Given the description of an element on the screen output the (x, y) to click on. 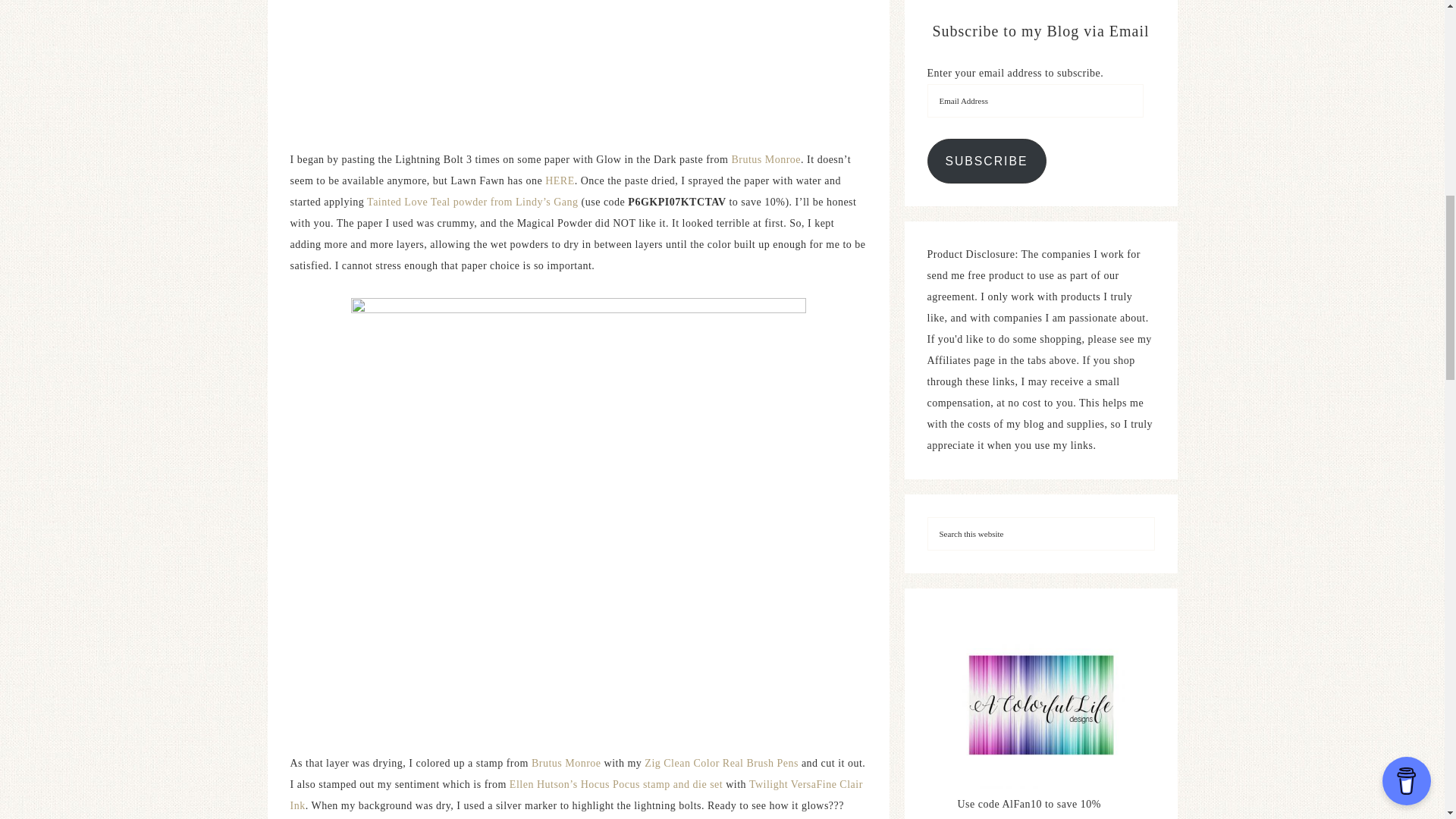
Zig Clean Color Real Brush Pens (721, 763)
Brutus Monroe (564, 763)
Brutus Monroe (765, 159)
Twilight VersaFine Clair Ink (575, 794)
HERE (559, 180)
SUBSCRIBE (985, 160)
